Given the description of an element on the screen output the (x, y) to click on. 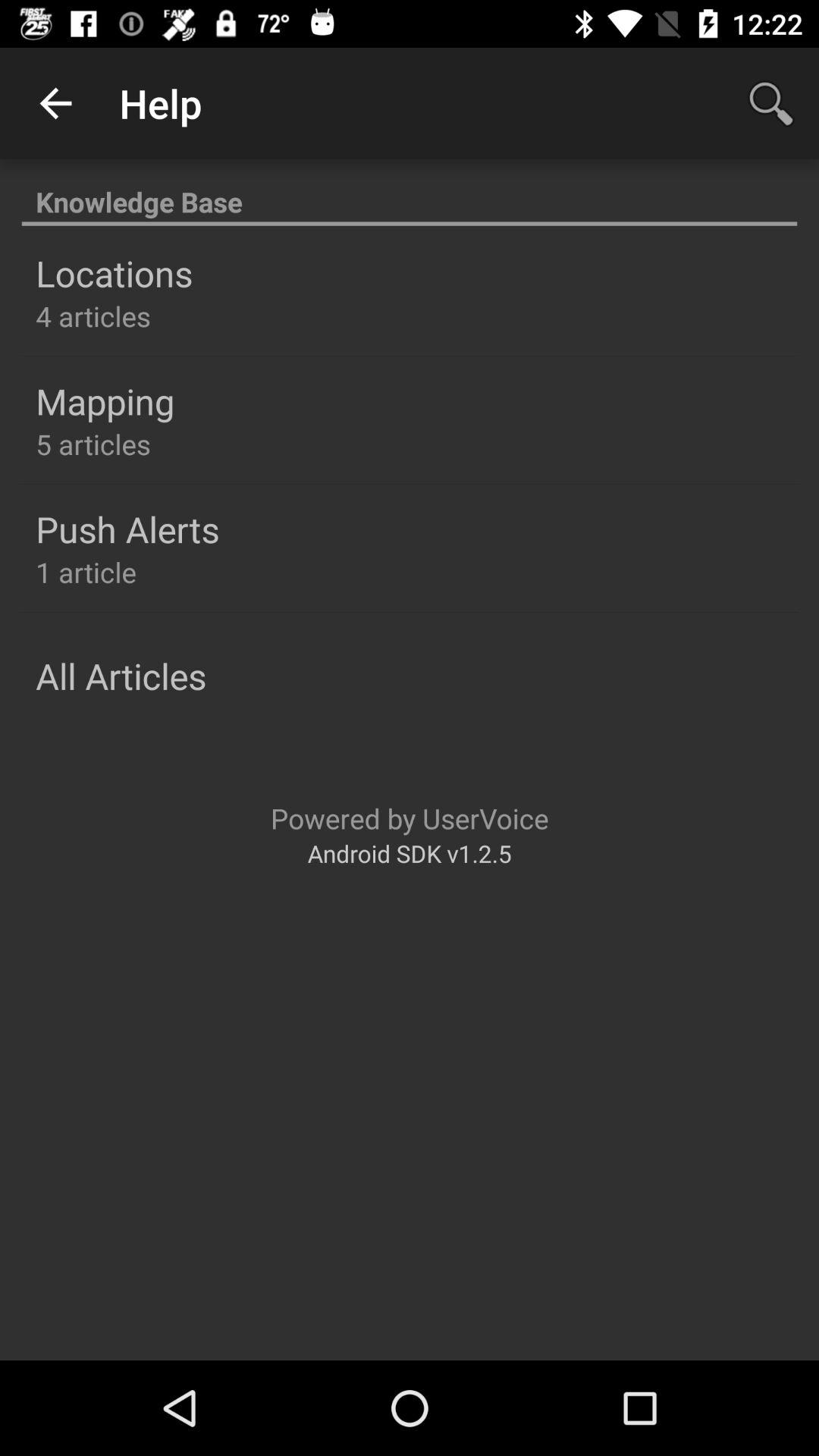
turn off icon below the powered by uservoice icon (409, 853)
